Given the description of an element on the screen output the (x, y) to click on. 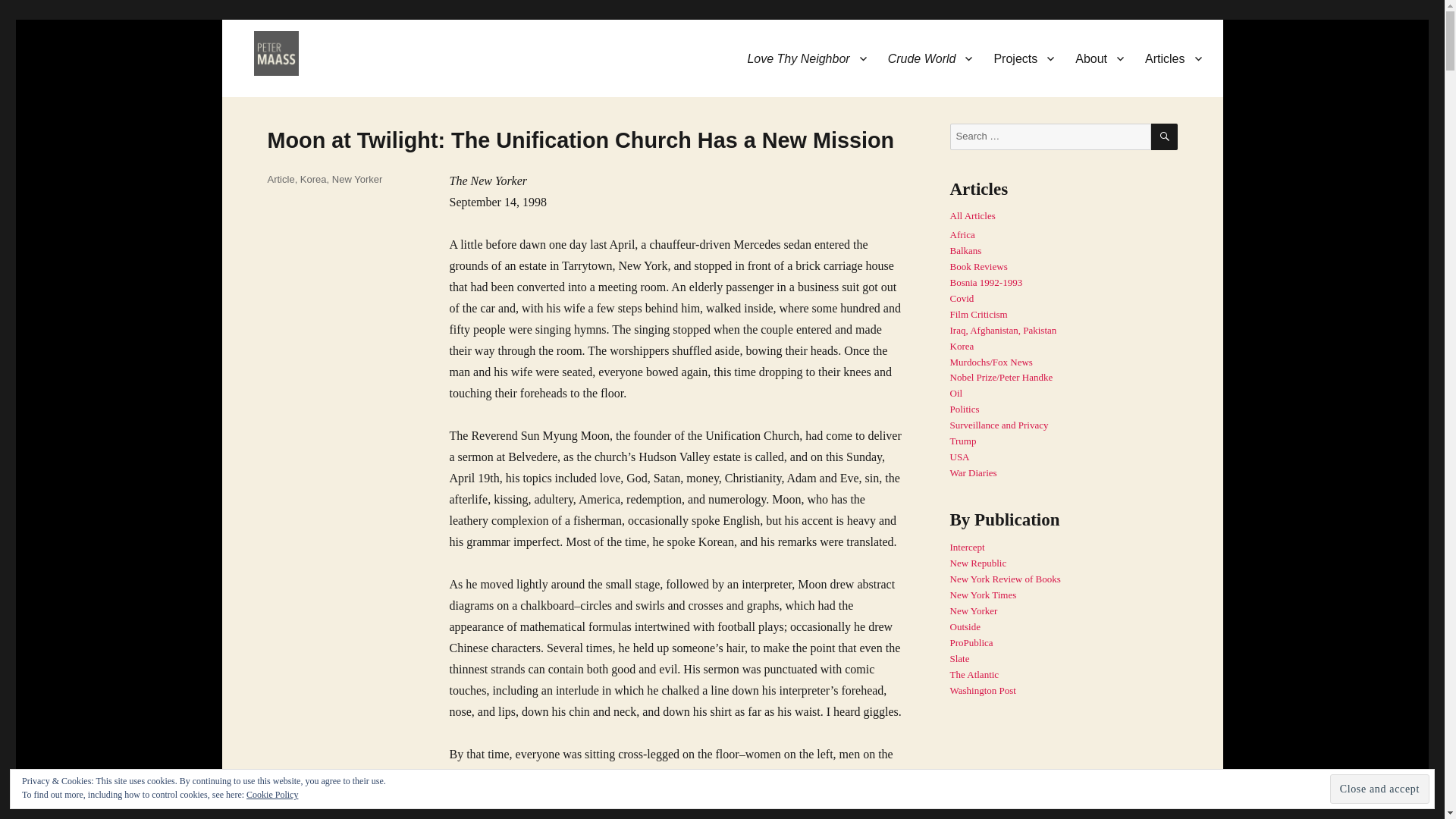
Projects (1023, 58)
Crude World (930, 58)
Articles (1172, 58)
Love Thy Neighbor (806, 58)
About (1099, 58)
Close and accept (1379, 788)
